Given the description of an element on the screen output the (x, y) to click on. 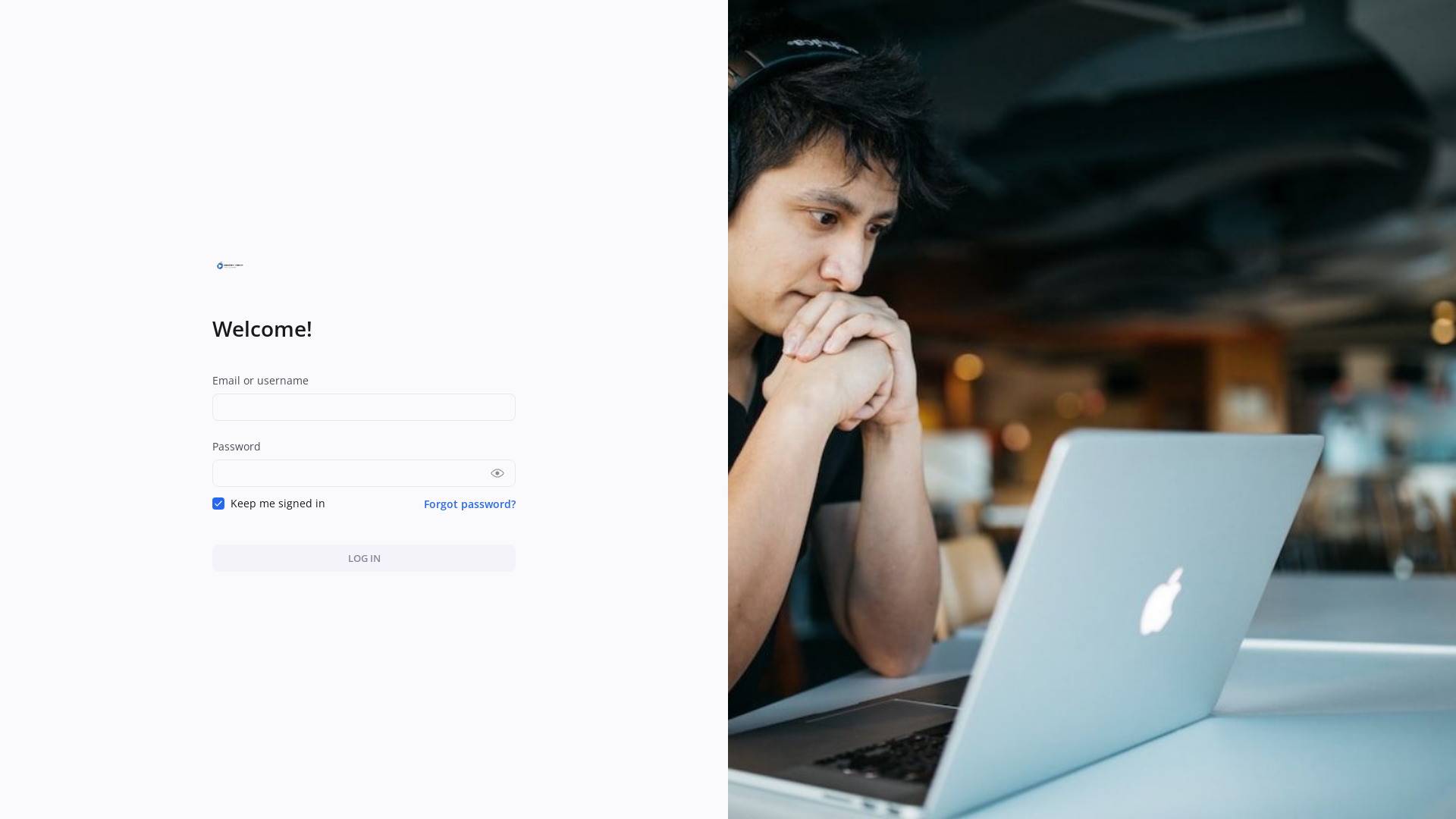
LOG IN Element type: text (363, 557)
Forgot password? Element type: text (469, 502)
